Given the description of an element on the screen output the (x, y) to click on. 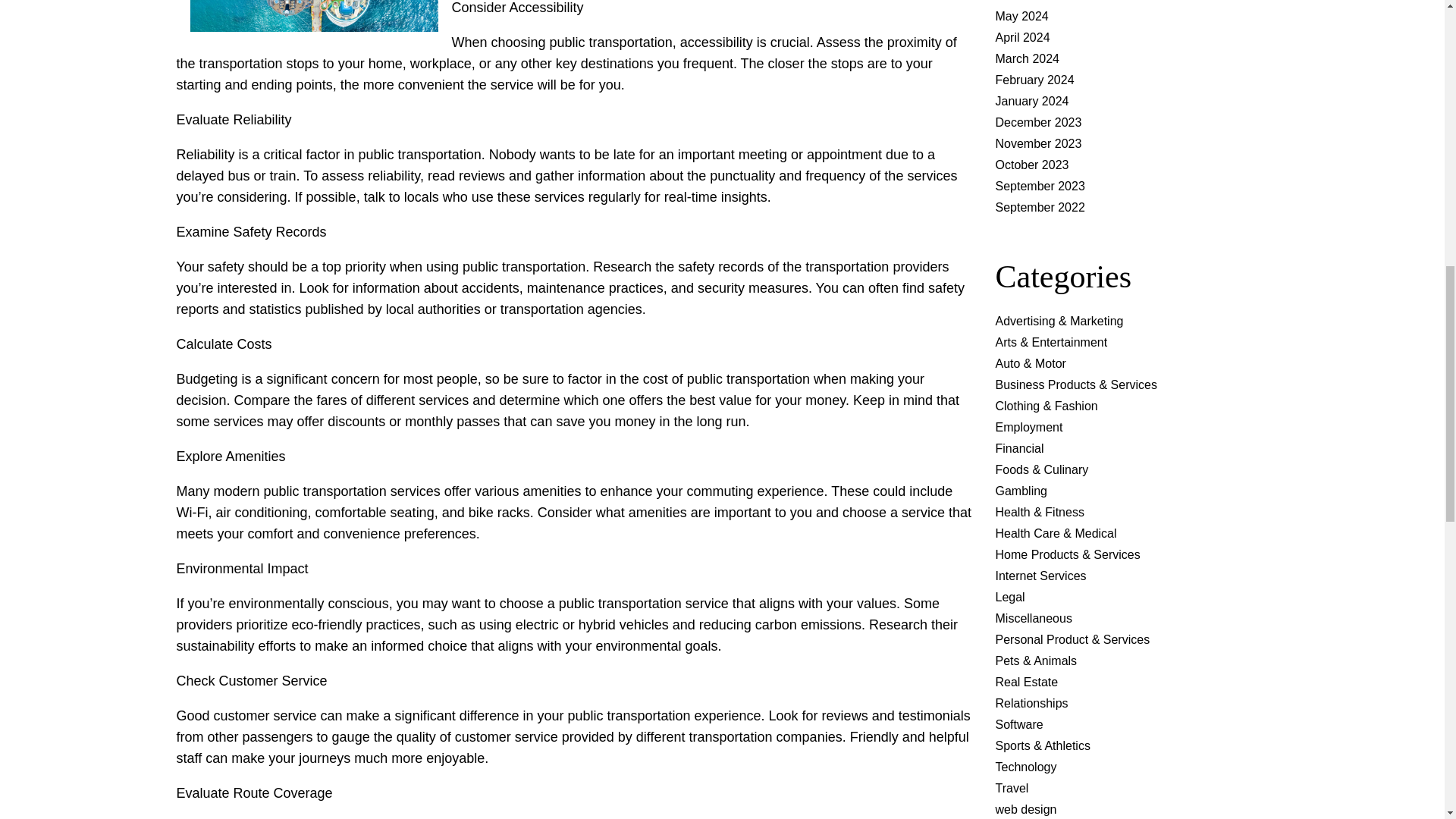
February 2024 (1034, 79)
March 2024 (1026, 58)
May 2024 (1021, 15)
June 2024 (1022, 0)
November 2023 (1037, 143)
January 2024 (1031, 101)
December 2023 (1037, 122)
April 2024 (1021, 37)
